Given the description of an element on the screen output the (x, y) to click on. 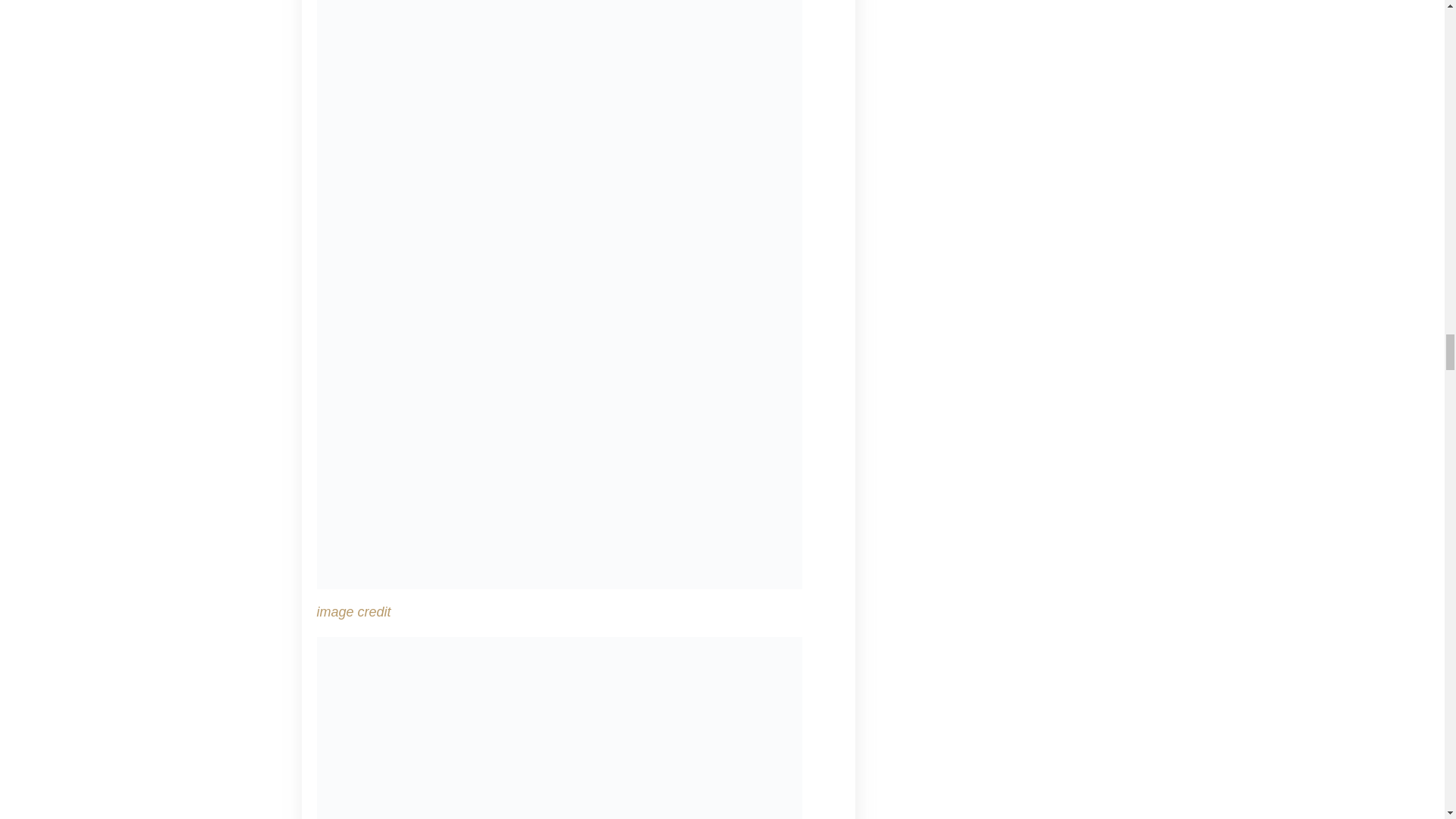
image credit (354, 611)
